Given the description of an element on the screen output the (x, y) to click on. 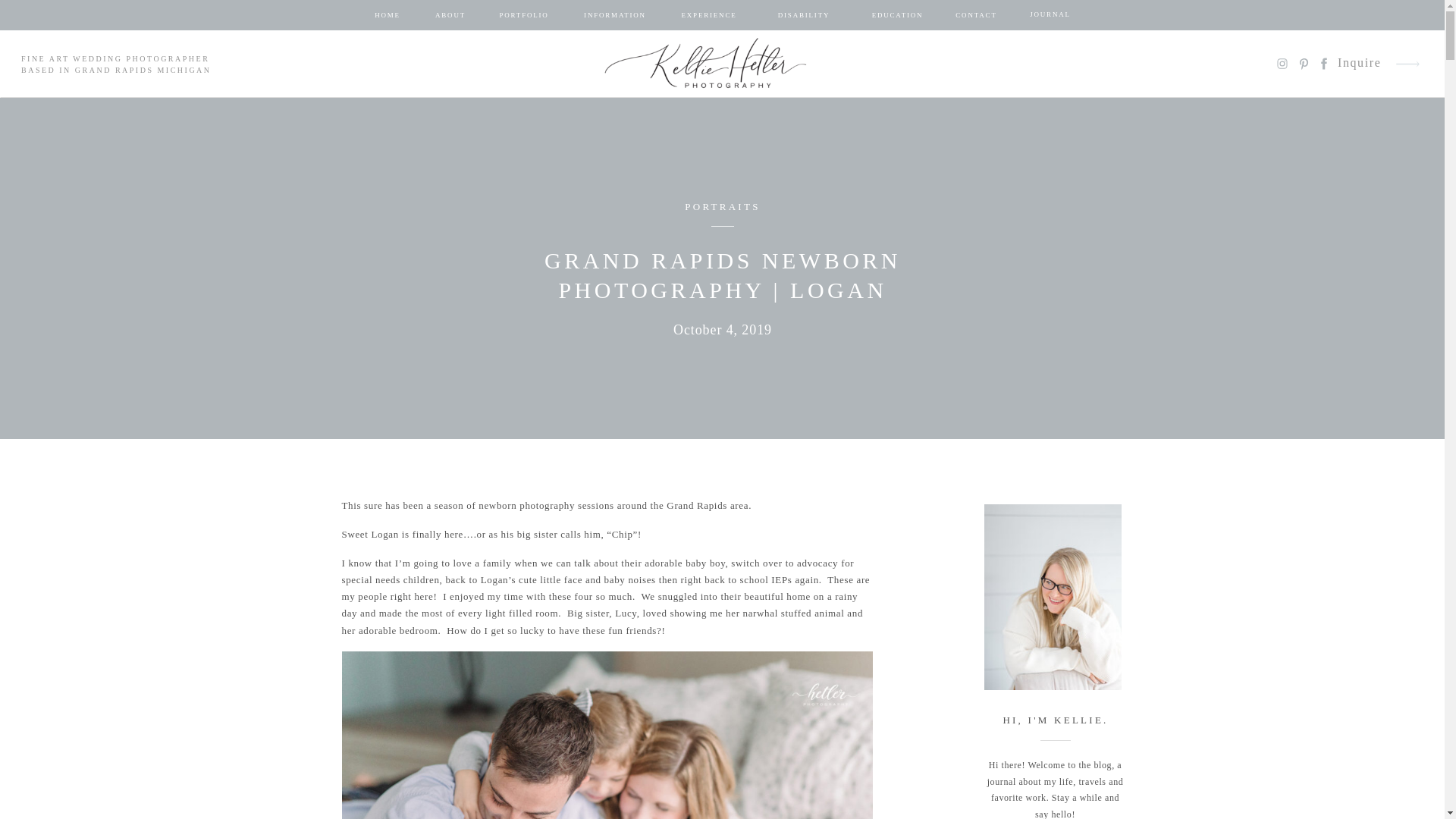
INFORMATION (614, 15)
DISABILITY (803, 15)
PORTFOLIO (523, 15)
arrow (1407, 63)
HOME (386, 15)
EDUCATION (897, 15)
arrow (1407, 63)
ABOUT (450, 15)
JOURNAL (1050, 15)
CONTACT (976, 15)
EXPERIENCE (708, 15)
Inquire  (1360, 64)
